Given the description of an element on the screen output the (x, y) to click on. 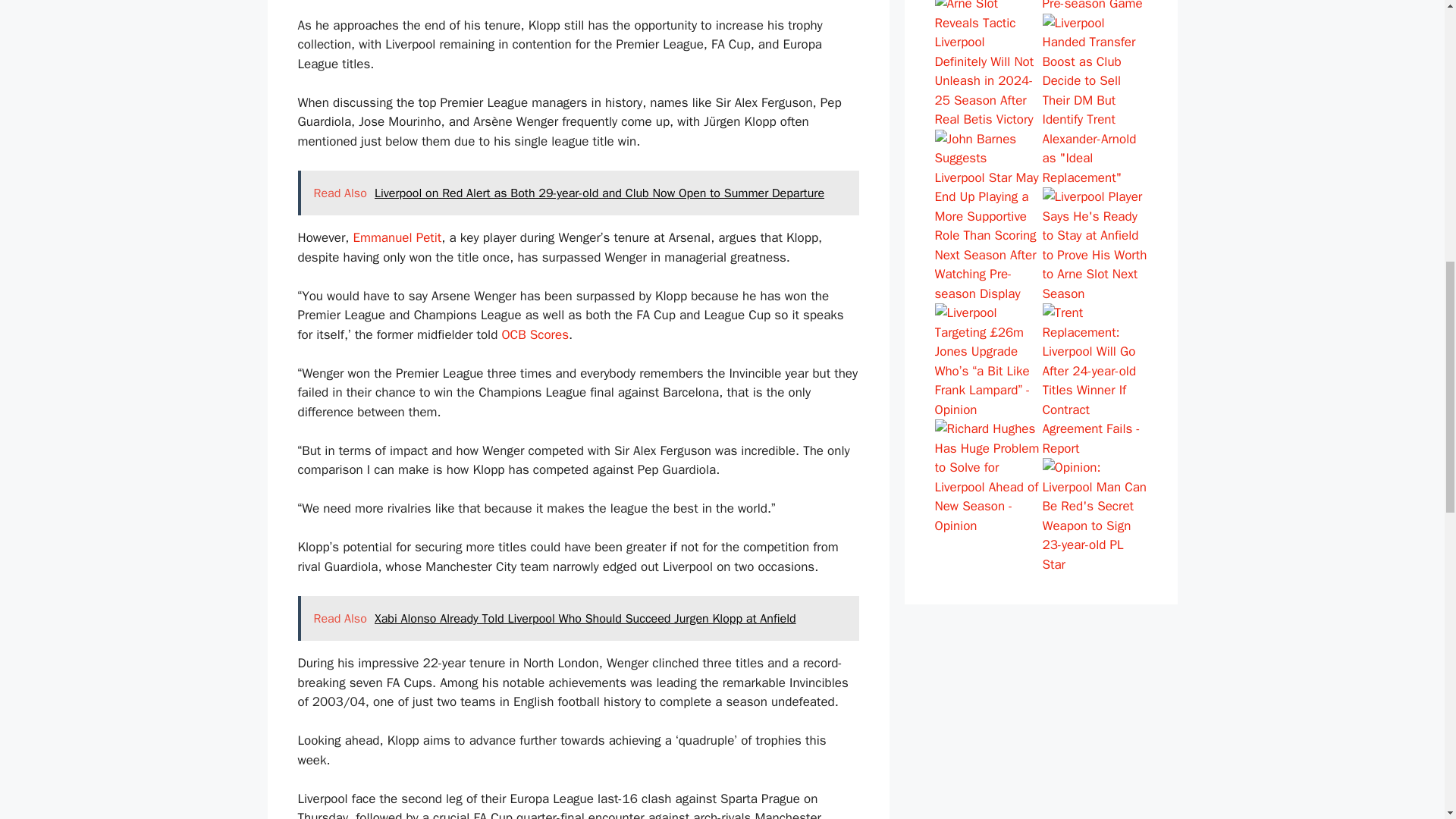
OCB Scores (534, 334)
Emmanuel Petit (397, 237)
